Given the description of an element on the screen output the (x, y) to click on. 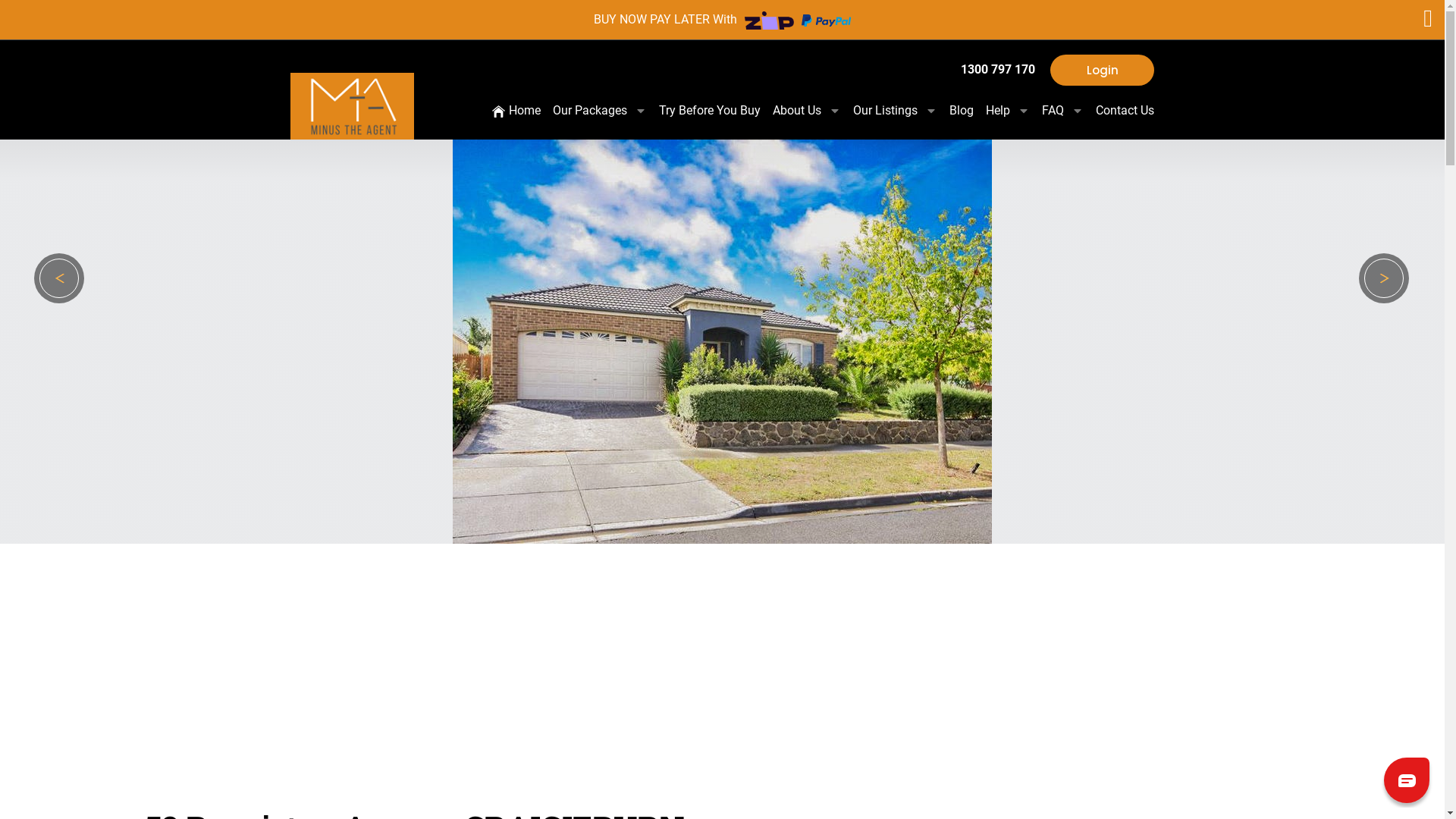
Help Element type: text (1012, 111)
Our Listings Element type: text (900, 111)
Blog Element type: text (966, 111)
Try Before You Buy Element type: text (714, 111)
Home Element type: text (521, 111)
FAQ Element type: text (1067, 111)
About Us Element type: text (811, 111)
1300 797 170 Element type: text (1005, 69)
Chat Element type: hover (1406, 778)
Login Element type: text (1102, 69)
Our Packages Element type: text (604, 111)
Contact Us Element type: text (1124, 111)
